Given the description of an element on the screen output the (x, y) to click on. 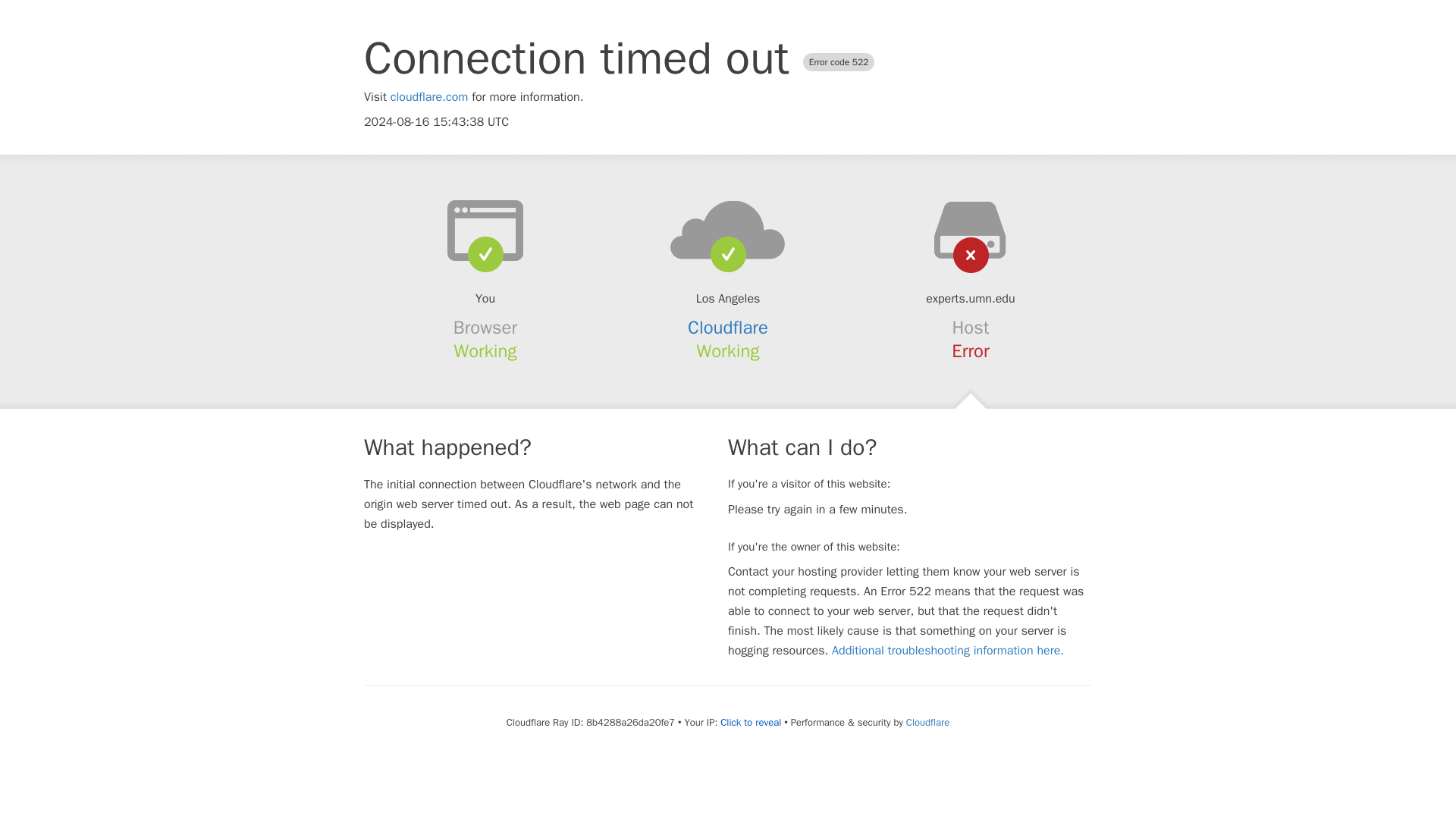
Click to reveal (750, 722)
cloudflare.com (429, 96)
Cloudflare (927, 721)
Additional troubleshooting information here. (947, 650)
Cloudflare (727, 327)
